Given the description of an element on the screen output the (x, y) to click on. 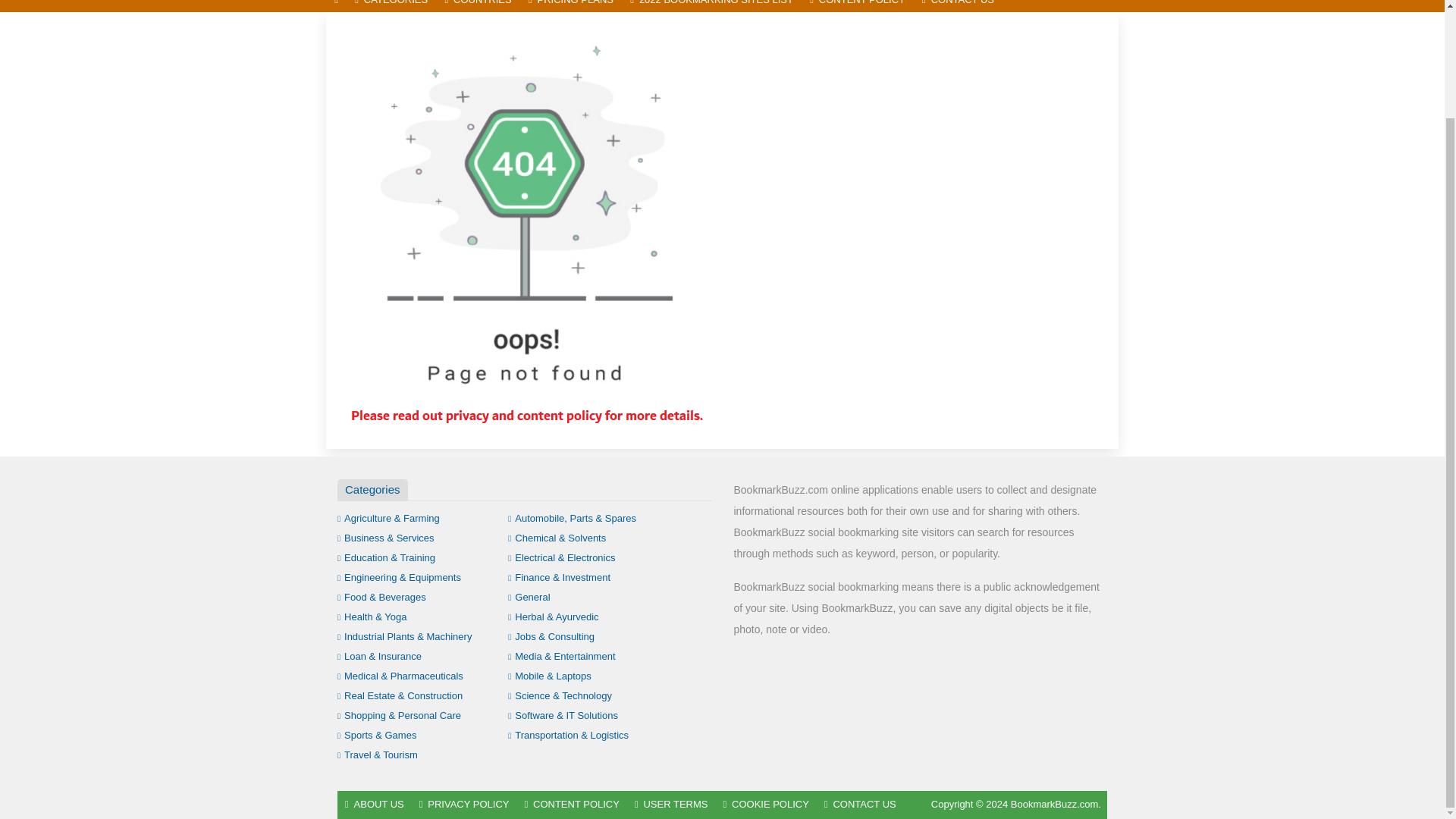
CATEGORIES (390, 6)
CONTENT POLICY (858, 6)
COUNTRIES (477, 6)
2022 BOOKMARKING SITES LIST (711, 6)
General (529, 596)
HOME (336, 6)
CONTACT US (958, 6)
PRICING PLANS (570, 6)
